Given the description of an element on the screen output the (x, y) to click on. 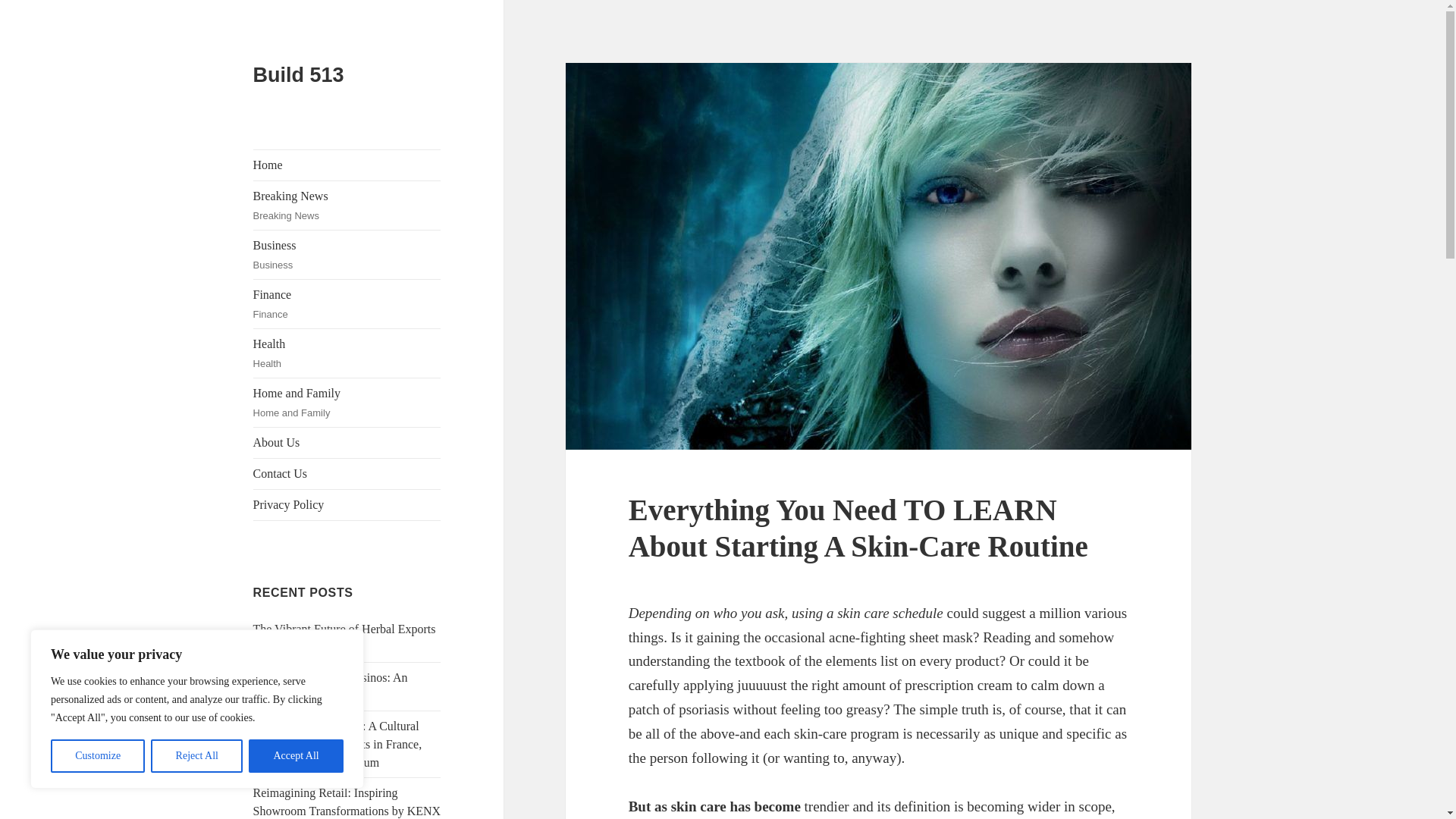
Accept All (347, 402)
Contact Us (295, 756)
Home (347, 473)
Build 513 (347, 164)
The Vibrant Future of Herbal Exports from Indonesia (347, 205)
